Given the description of an element on the screen output the (x, y) to click on. 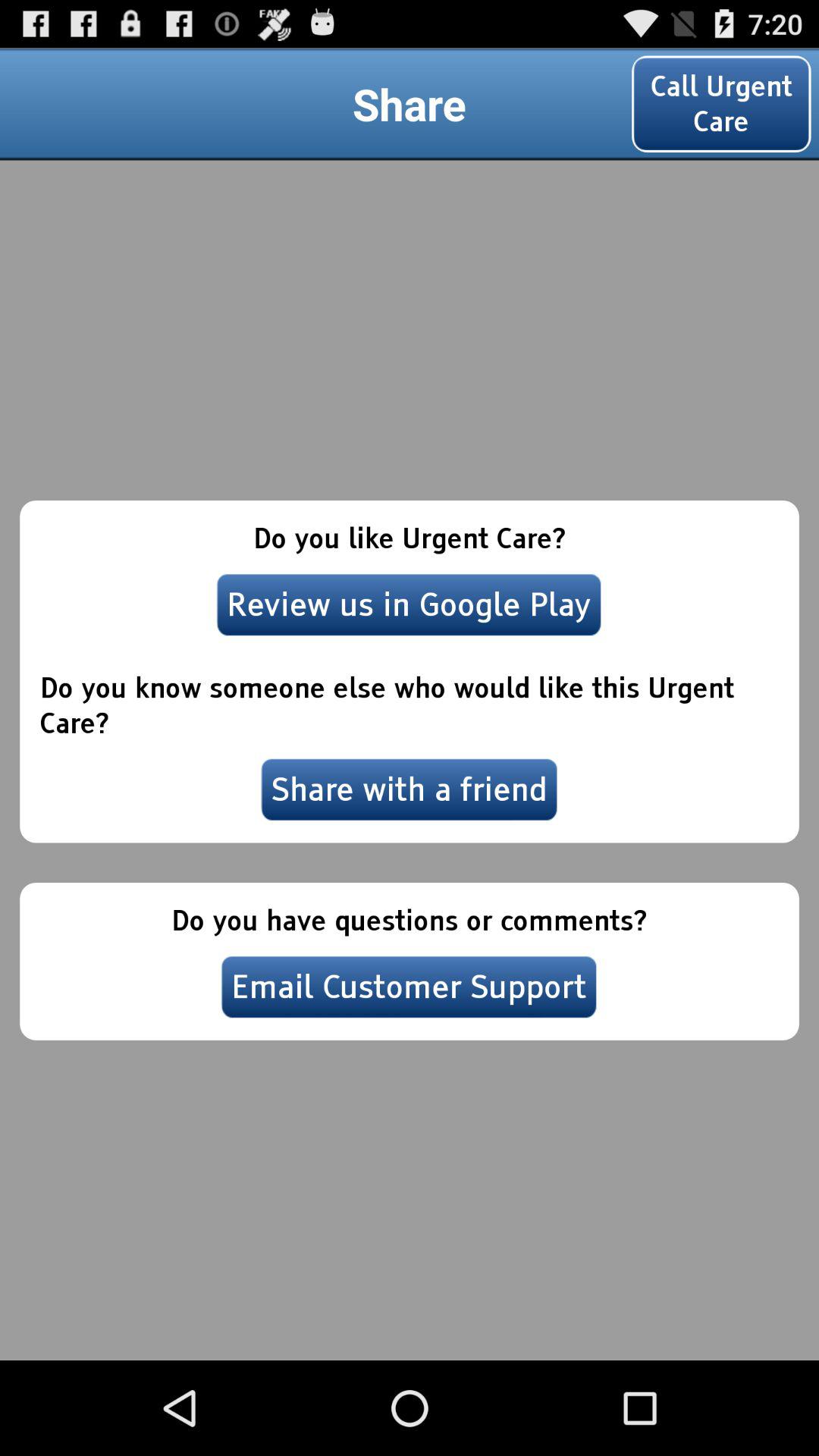
click email customer support at the bottom (408, 986)
